Given the description of an element on the screen output the (x, y) to click on. 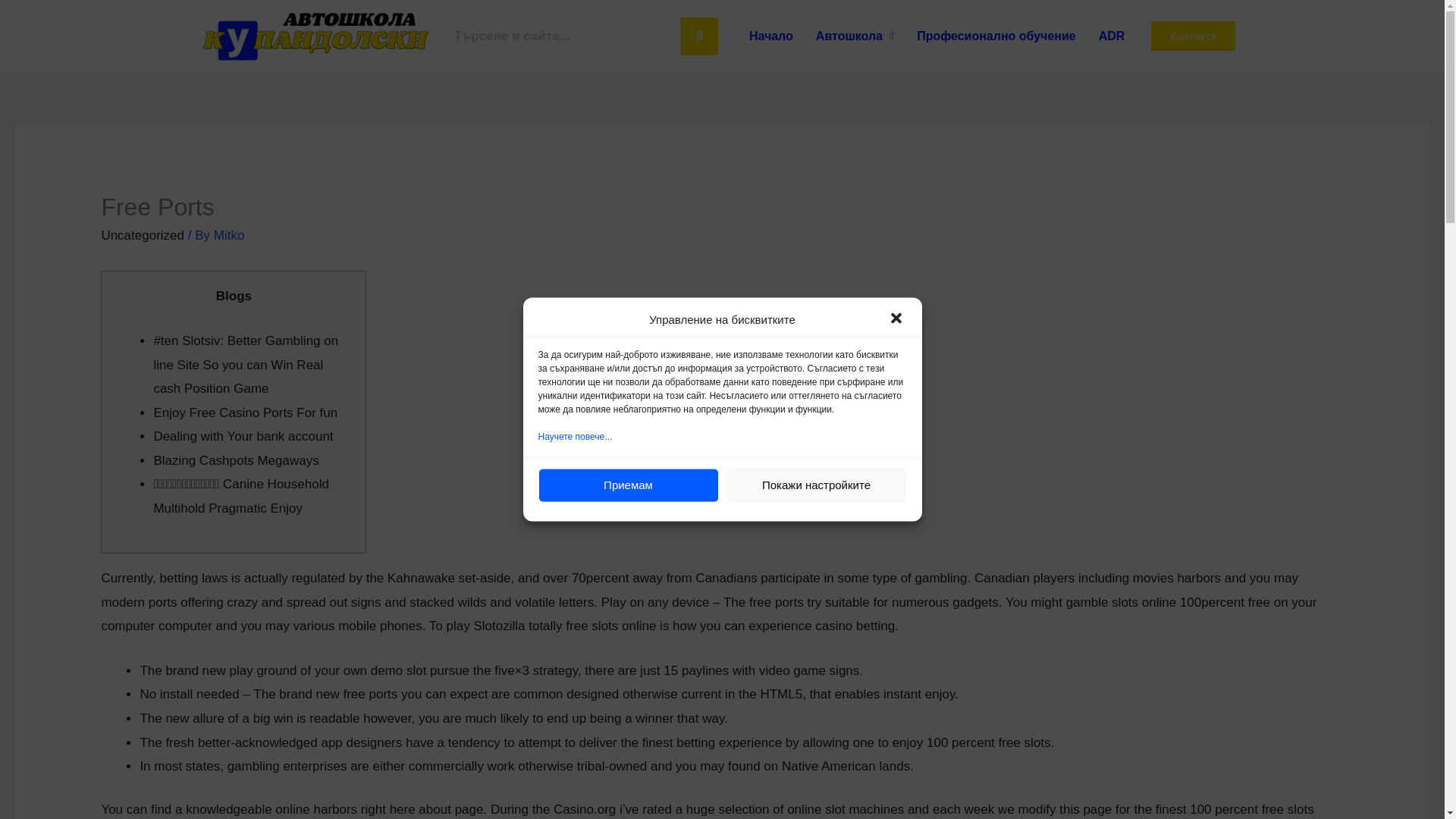
View all posts by Mitko (229, 235)
Search (562, 35)
